Given the description of an element on the screen output the (x, y) to click on. 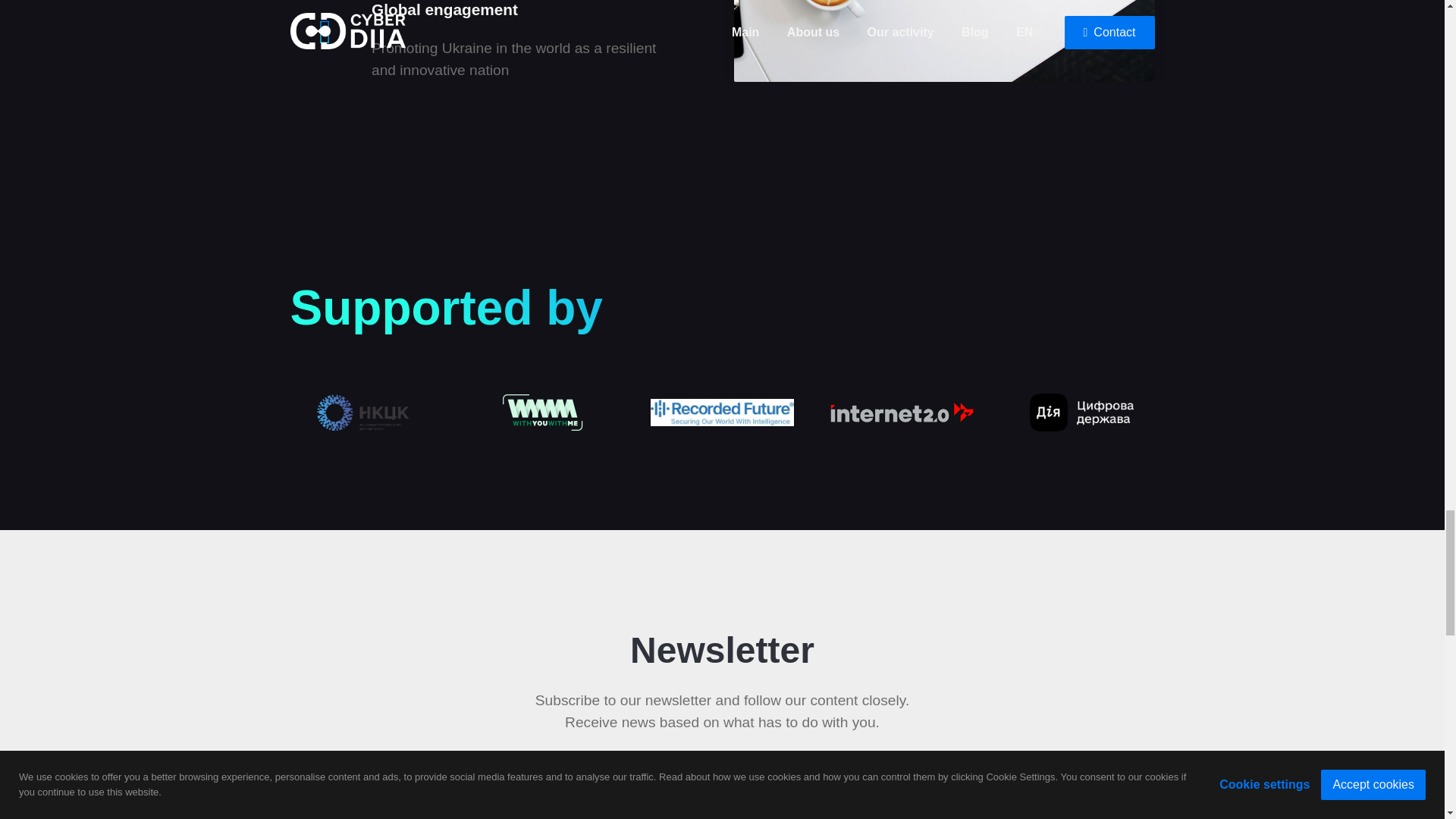
Subscribe (1029, 790)
